Given the description of an element on the screen output the (x, y) to click on. 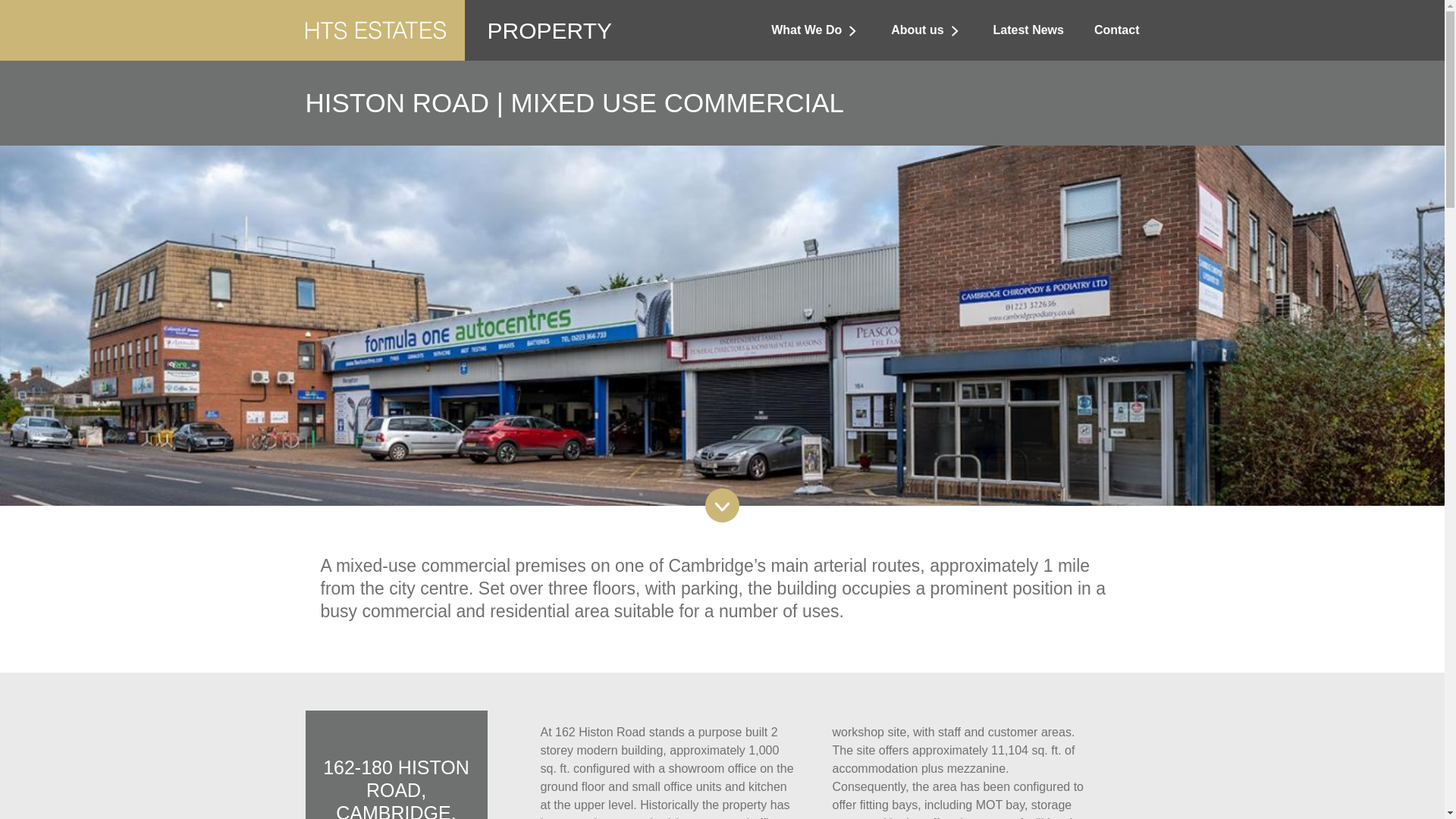
HTS Estates (374, 8)
About us (926, 30)
Latest News (1028, 30)
Contact (1117, 30)
Latest News (1028, 30)
What We Do (815, 30)
Go down (721, 505)
About us (926, 30)
Contact (1117, 30)
What We Do (815, 30)
